Given the description of an element on the screen output the (x, y) to click on. 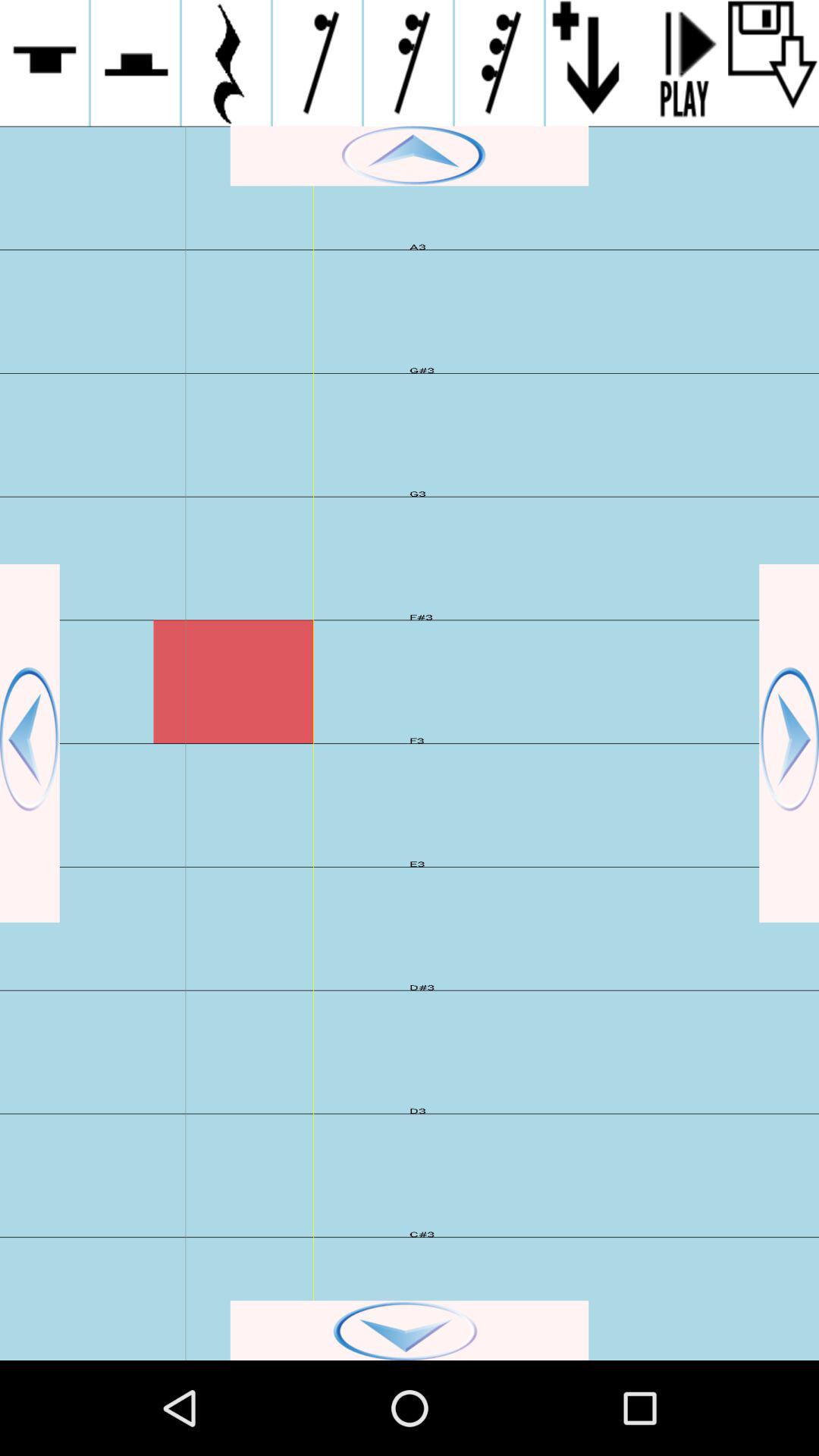
scroll screen up (409, 155)
